Given the description of an element on the screen output the (x, y) to click on. 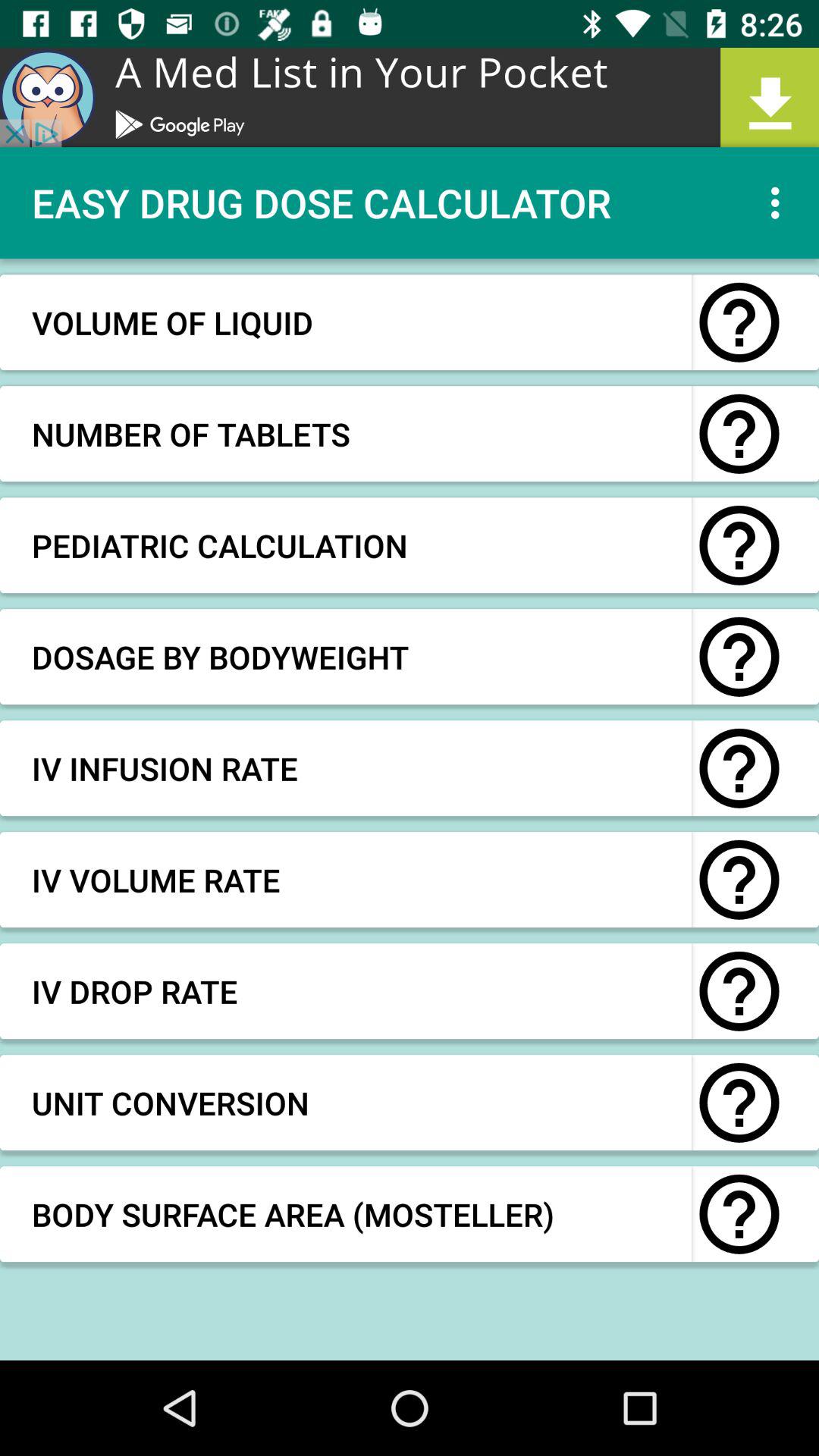
more information (739, 879)
